Given the description of an element on the screen output the (x, y) to click on. 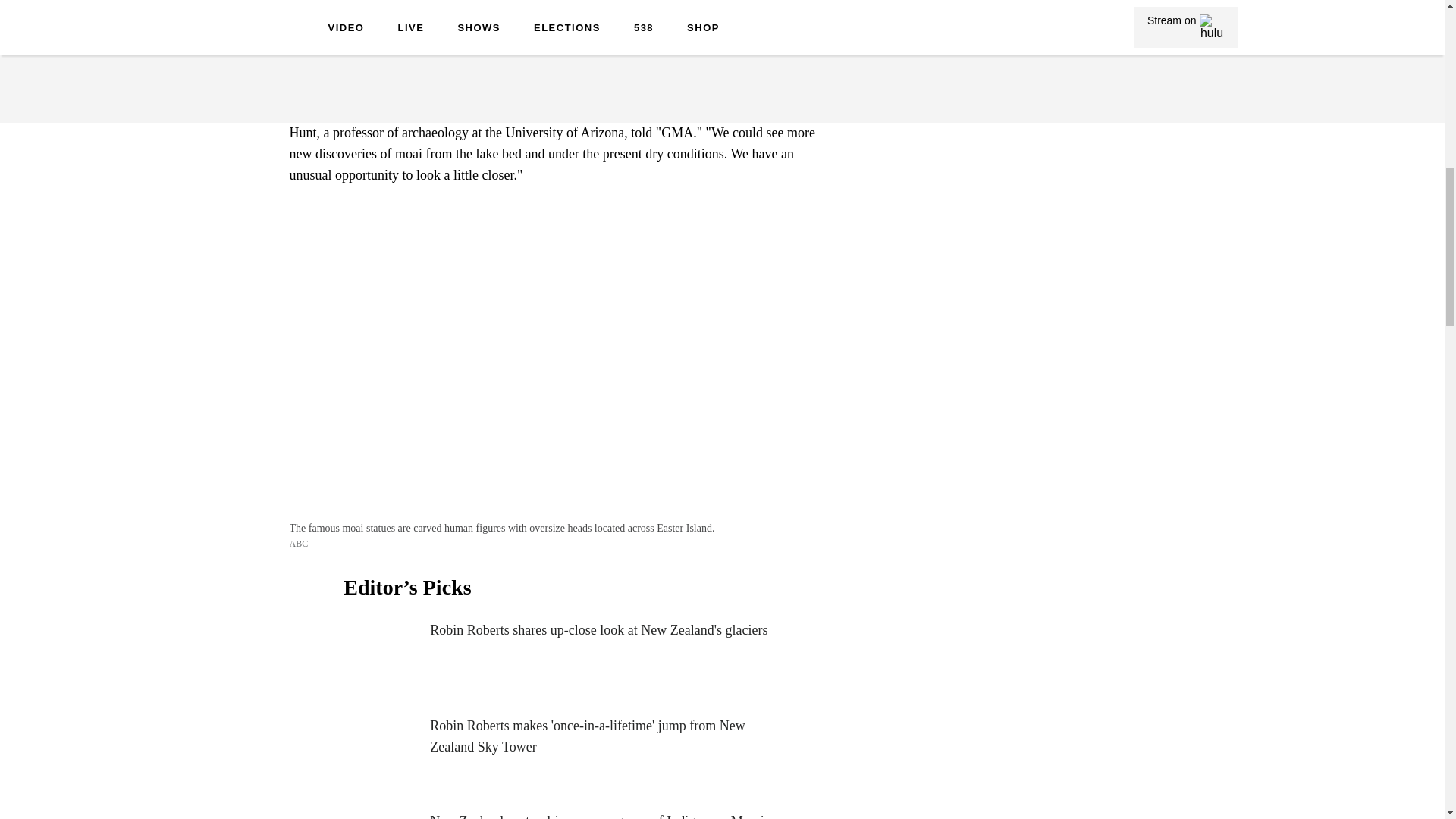
Robin Roberts shares up-close look at New Zealand's glaciers (560, 657)
climate change (330, 44)
